Given the description of an element on the screen output the (x, y) to click on. 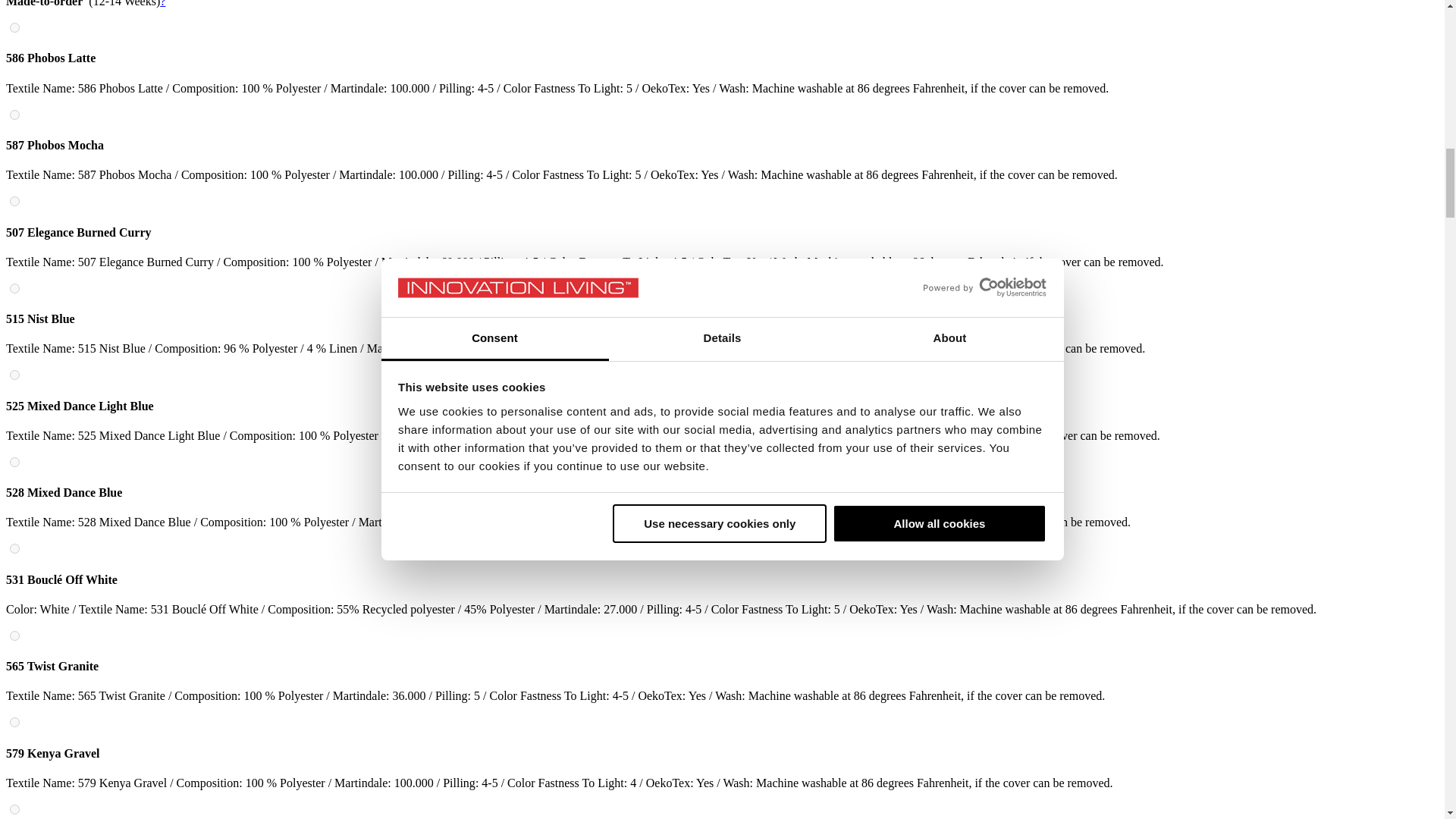
variant-PROD1158 (15, 809)
variant-PROD10745 (15, 114)
variant-PROD1134 (15, 288)
variant-PROD1142 (15, 548)
variant-PROD1141 (15, 461)
variant-PROD1153 (15, 635)
variant-PROD10744 (15, 27)
variant-PROD1157 (15, 722)
variant-PROD1131 (15, 201)
variant-PROD1139 (15, 375)
